Given the description of an element on the screen output the (x, y) to click on. 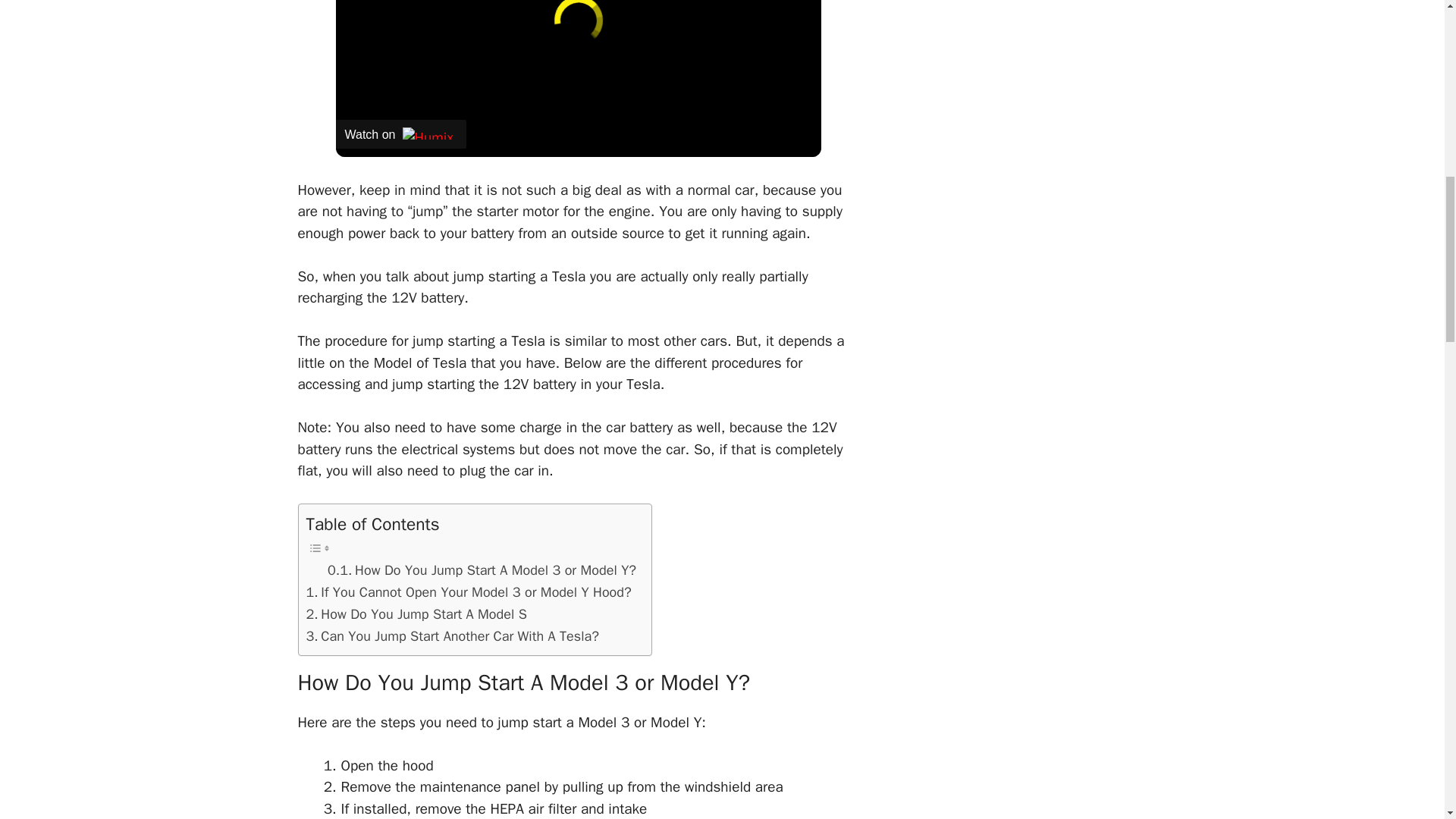
How Do You Jump Start A Model 3 or Model Y? (481, 570)
How Do You Jump Start A Model S (416, 614)
Can You Jump Start Another Car With A Tesla? (451, 636)
How Do You Jump Start A Model 3 or Model Y? (481, 570)
How Do You Jump Start A Model S (416, 614)
If You Cannot Open Your Model 3 or Model Y Hood? (468, 592)
Watch on (399, 133)
Can You Jump Start Another Car With A Tesla? (451, 636)
If You Cannot Open Your Model 3 or Model Y Hood? (468, 592)
